Given the description of an element on the screen output the (x, y) to click on. 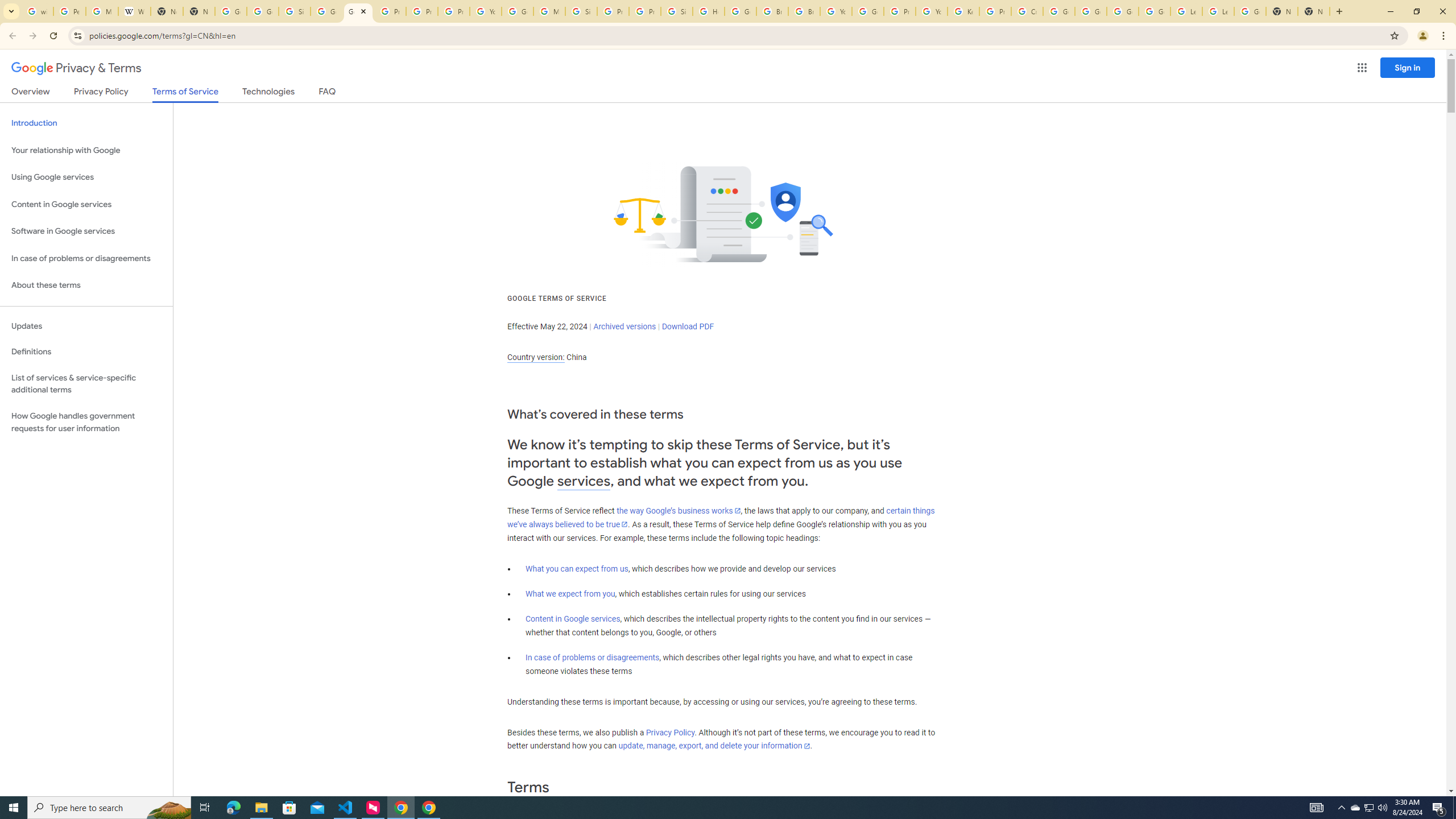
How Google handles government requests for user information (86, 422)
Archived versions (624, 326)
New Tab (1313, 11)
YouTube (485, 11)
Google Account Help (1123, 11)
YouTube (931, 11)
Google Account Help (517, 11)
What we expect from you (570, 593)
YouTube (836, 11)
What you can expect from us (576, 568)
